Given the description of an element on the screen output the (x, y) to click on. 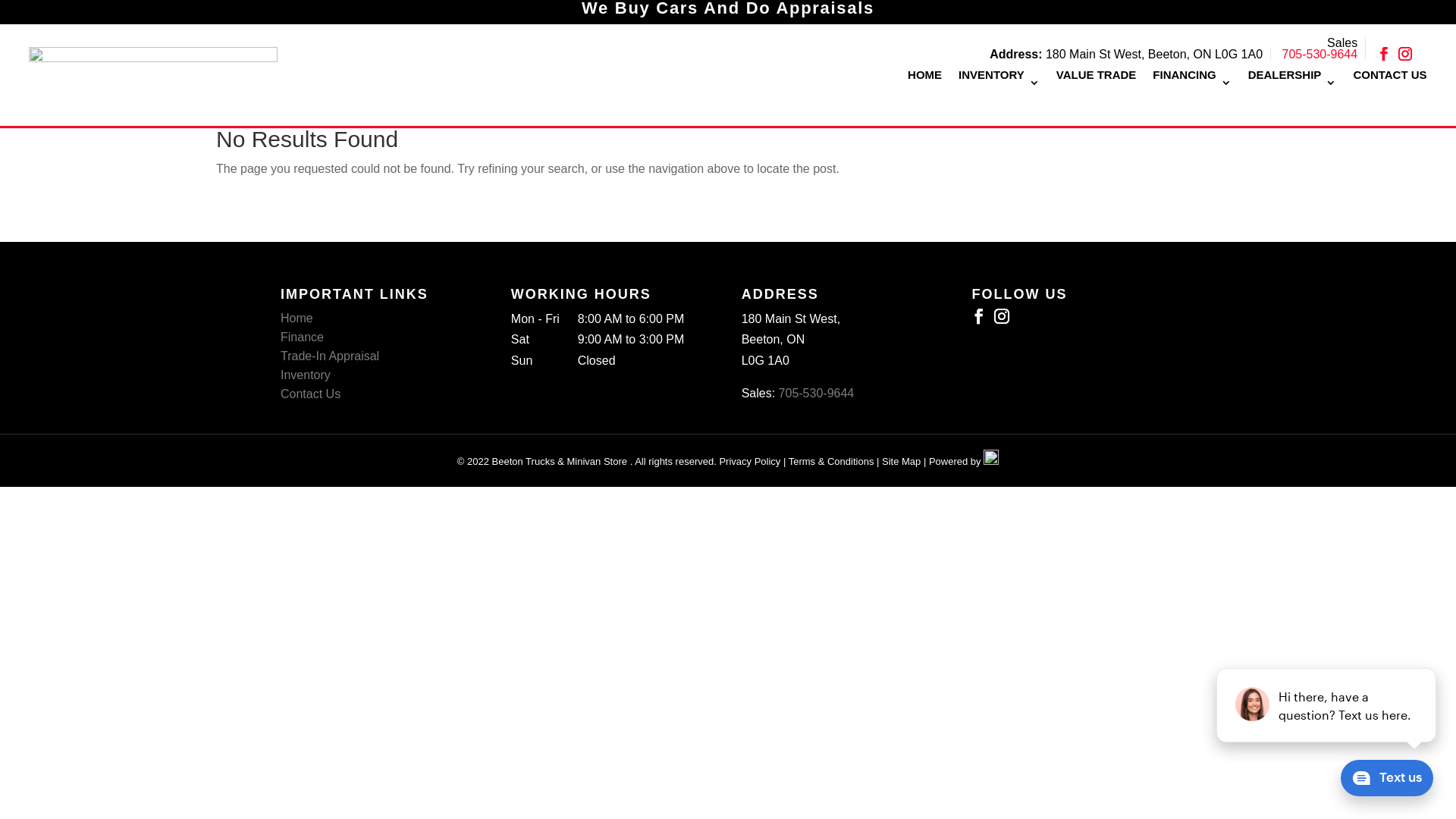
DEALERSHIP Element type: text (1292, 77)
CONTACT US Element type: text (1389, 77)
web-logo Element type: hover (152, 66)
VALUE TRADE Element type: text (1096, 77)
Privacy Policy Element type: text (749, 461)
Finance Element type: text (301, 336)
Home Element type: text (296, 317)
Inventory Element type: text (305, 374)
Powered by Element type: text (963, 461)
Site Map Element type: text (900, 461)
705-530-9644 Element type: text (1319, 53)
705-530-9644 Element type: text (816, 392)
INVENTORY Element type: text (998, 77)
HOME Element type: text (924, 77)
Contact Us Element type: text (310, 393)
Trade-In Appraisal Element type: text (329, 355)
FINANCING Element type: text (1191, 77)
Terms & Conditions Element type: text (831, 461)
